Given the description of an element on the screen output the (x, y) to click on. 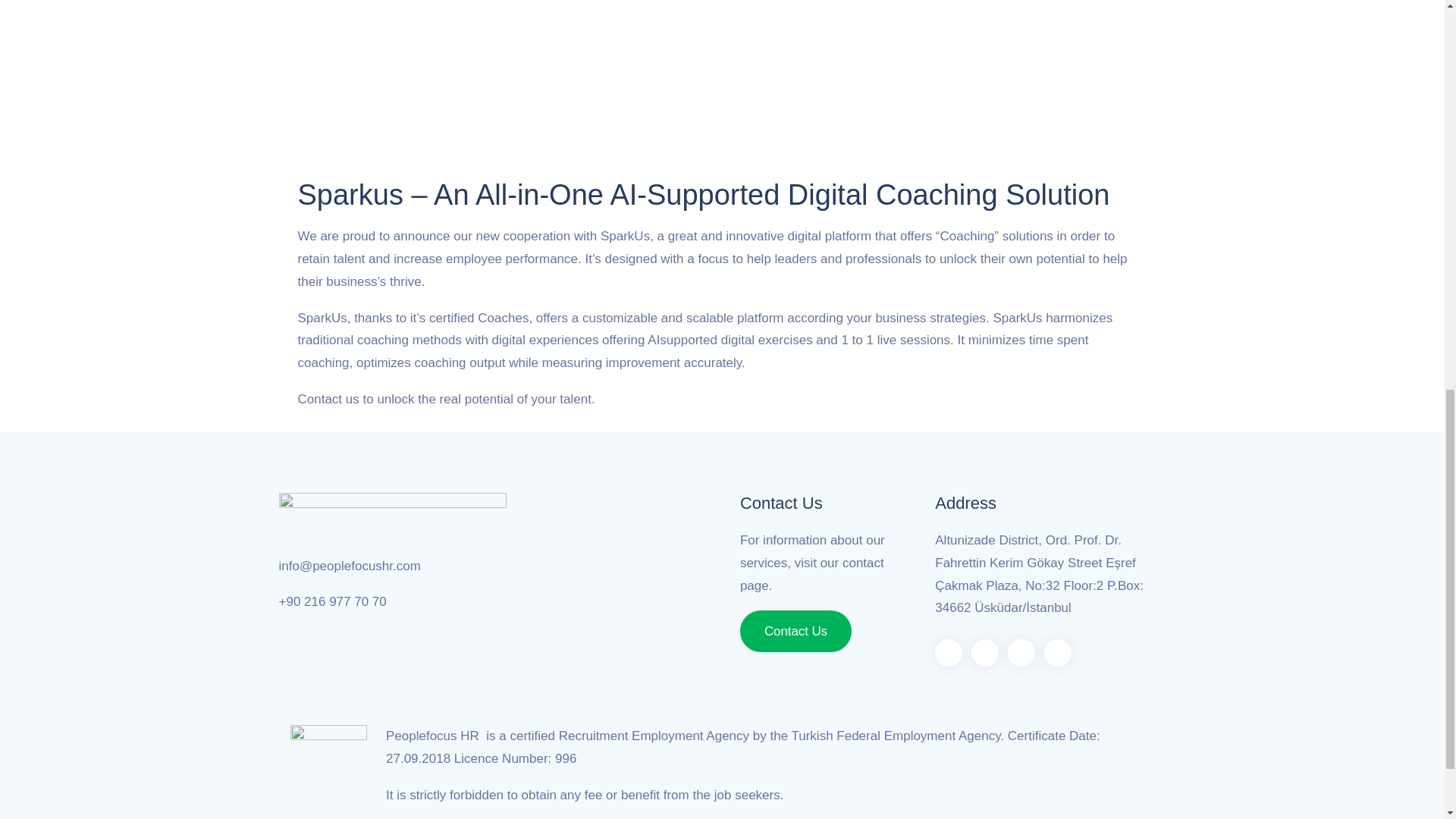
LinkedIn (1020, 653)
YouTube (1057, 652)
Facebook (948, 653)
LinkedIn (1021, 652)
YouTube (1057, 653)
Instagram (984, 653)
Facebook (948, 652)
Contact Us (795, 630)
Instagram (984, 652)
